Given the description of an element on the screen output the (x, y) to click on. 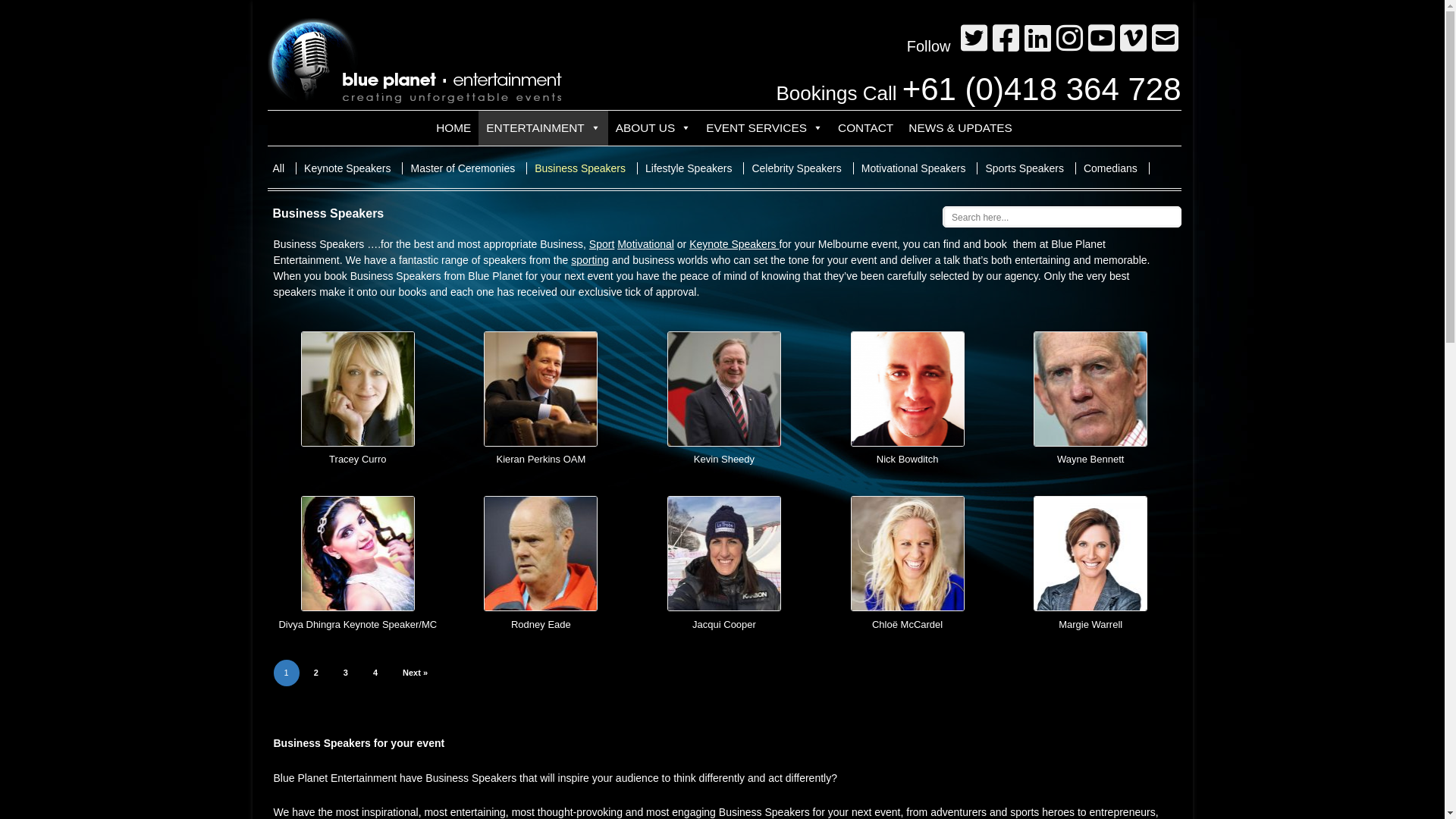
Lifestyle Speakers Element type: text (694, 167)
Margie Warrell Element type: text (1090, 562)
sporting Element type: text (589, 260)
CONTACT Element type: text (865, 127)
Divya Dhingra Keynote Speaker/MC Element type: hover (357, 553)
Nick Bowditch Element type: hover (907, 388)
Rodney Eade Element type: text (540, 562)
ENTERTAINMENT Element type: text (542, 127)
Skip to content Element type: text (724, 110)
Divya Dhingra Keynote Speaker/MC Element type: text (357, 562)
NEWS & UPDATES Element type: text (959, 127)
Sports Speakers Element type: text (1030, 167)
Sport Element type: text (601, 244)
Kieran Perkins OAM Element type: text (540, 397)
3 Element type: text (345, 672)
Wayne Bennett Element type: text (1090, 397)
ABOUT US Element type: text (653, 127)
Nick Bowditch Element type: text (906, 397)
Kevin Sheedy Element type: text (724, 397)
Jacqui Cooper Element type: hover (724, 553)
4 Element type: text (375, 672)
Business Speakers Element type: text (585, 167)
Keynote Speakers Element type: text (733, 244)
HOME Element type: text (453, 127)
All Element type: text (285, 167)
Tracey Curro Element type: hover (357, 388)
Kieran Perkins OAM Element type: hover (540, 388)
Keynote Speakers Element type: text (353, 167)
2 Element type: text (316, 672)
EVENT SERVICES Element type: text (764, 127)
Wayne Bennett Element type: hover (1090, 388)
Tracey Curro Element type: text (357, 397)
Motivational Speakers Element type: text (919, 167)
Rodney Eade Element type: hover (540, 553)
Kevin Sheedy Element type: hover (724, 388)
Comedians Element type: text (1116, 167)
Margie Warrell Element type: hover (1090, 553)
Jacqui Cooper Element type: text (724, 562)
Master of Ceremonies Element type: text (468, 167)
Celebrity Speakers Element type: text (802, 167)
Motivational Element type: text (645, 244)
